Given the description of an element on the screen output the (x, y) to click on. 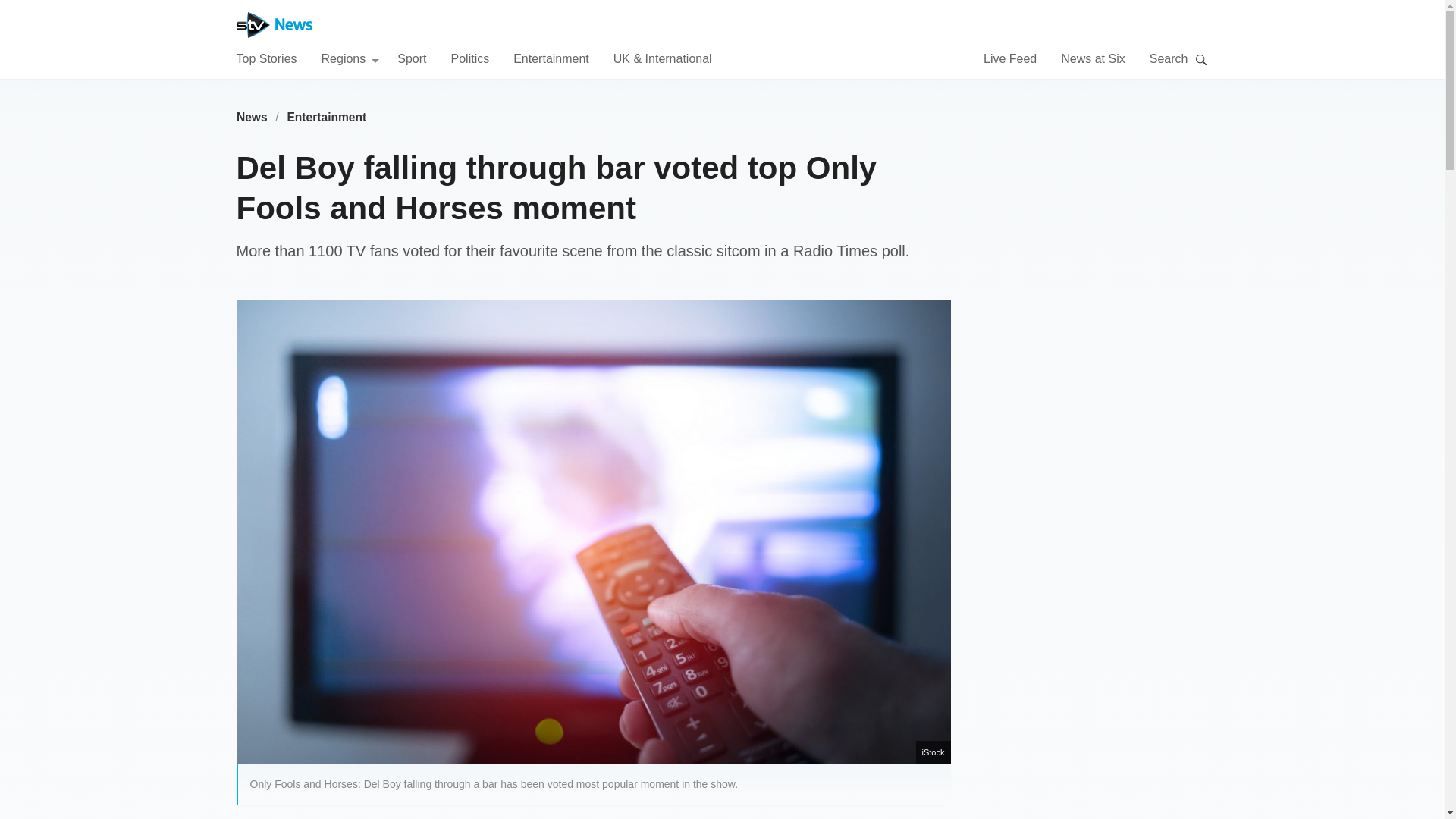
Live Feed (1010, 57)
News (252, 116)
Politics (469, 57)
News at Six (1092, 57)
Entertainment (326, 116)
Entertainment (551, 57)
Top Stories (266, 57)
Regions (350, 57)
Search (1201, 59)
